Given the description of an element on the screen output the (x, y) to click on. 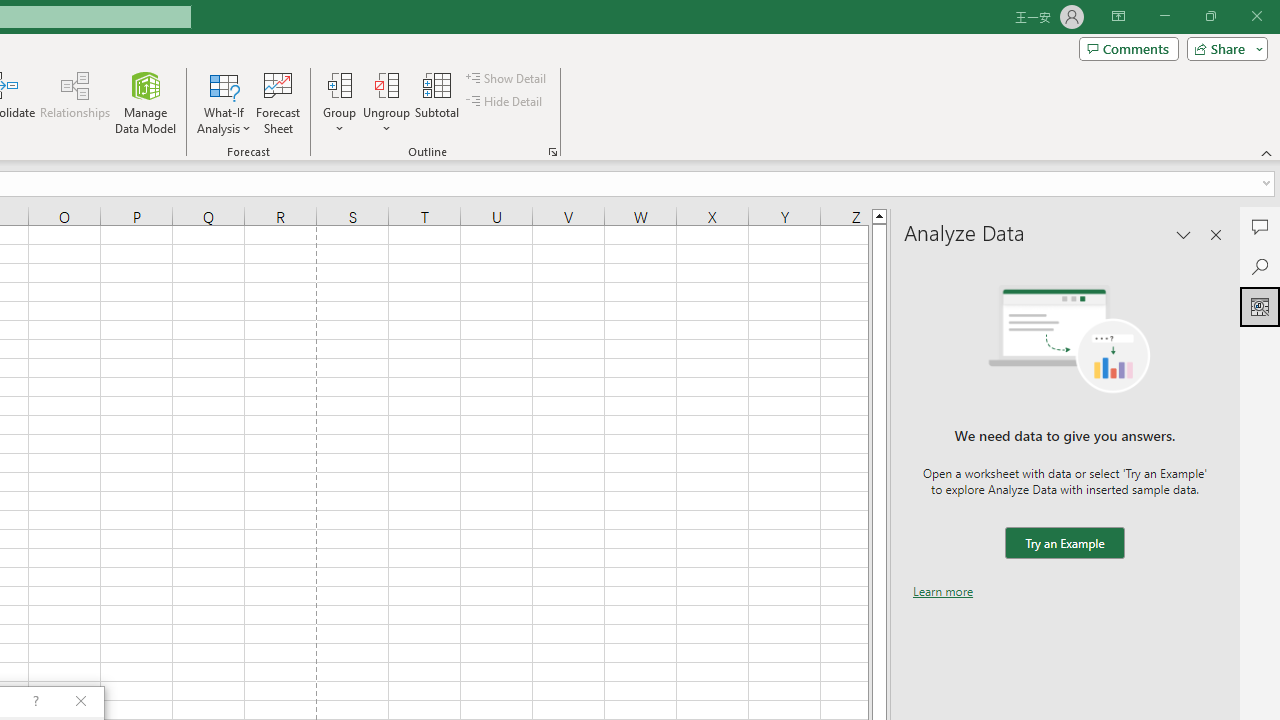
Show Detail (507, 78)
Manage Data Model (145, 102)
Search (1260, 266)
Subtotal (437, 102)
Close pane (1215, 234)
Restore Down (1210, 16)
We need data to give you answers. Try an Example (1064, 543)
Ungroup... (386, 102)
Learn more (943, 591)
